Given the description of an element on the screen output the (x, y) to click on. 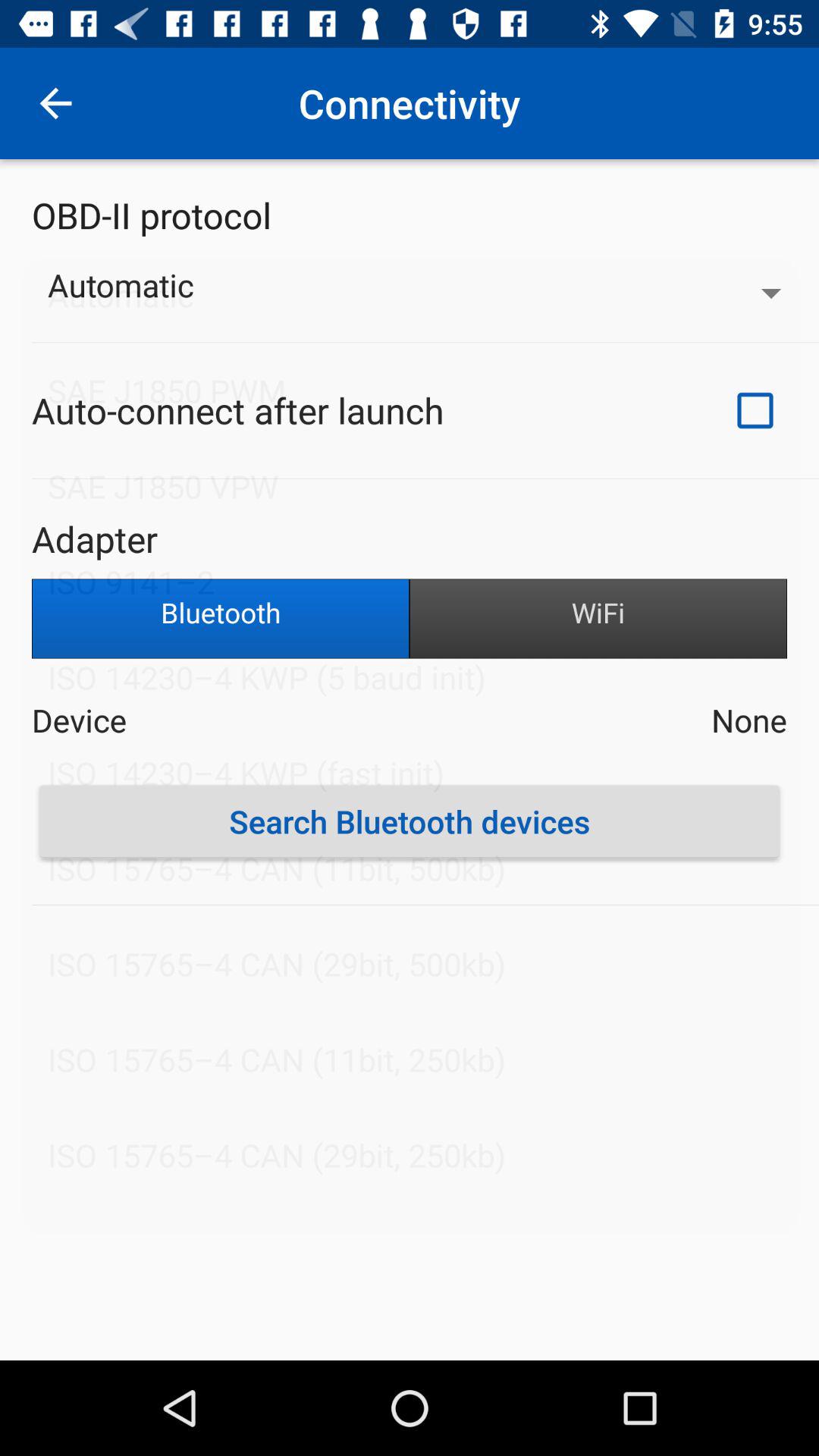
launch icon above obd-ii protocol (55, 103)
